Given the description of an element on the screen output the (x, y) to click on. 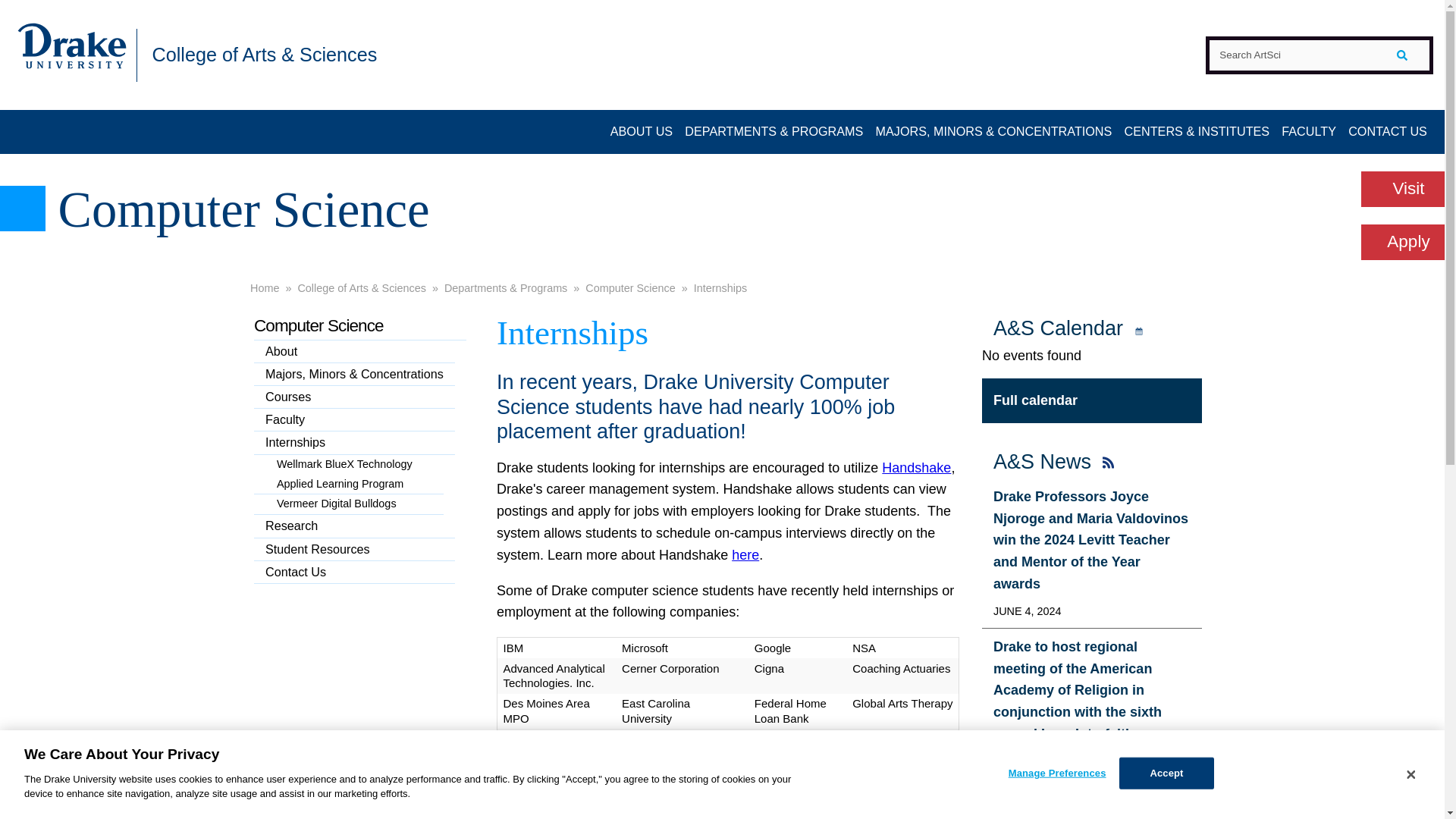
Search ArtSci (1318, 55)
Search ArtSci (1318, 55)
ABOUT US (641, 131)
